Given the description of an element on the screen output the (x, y) to click on. 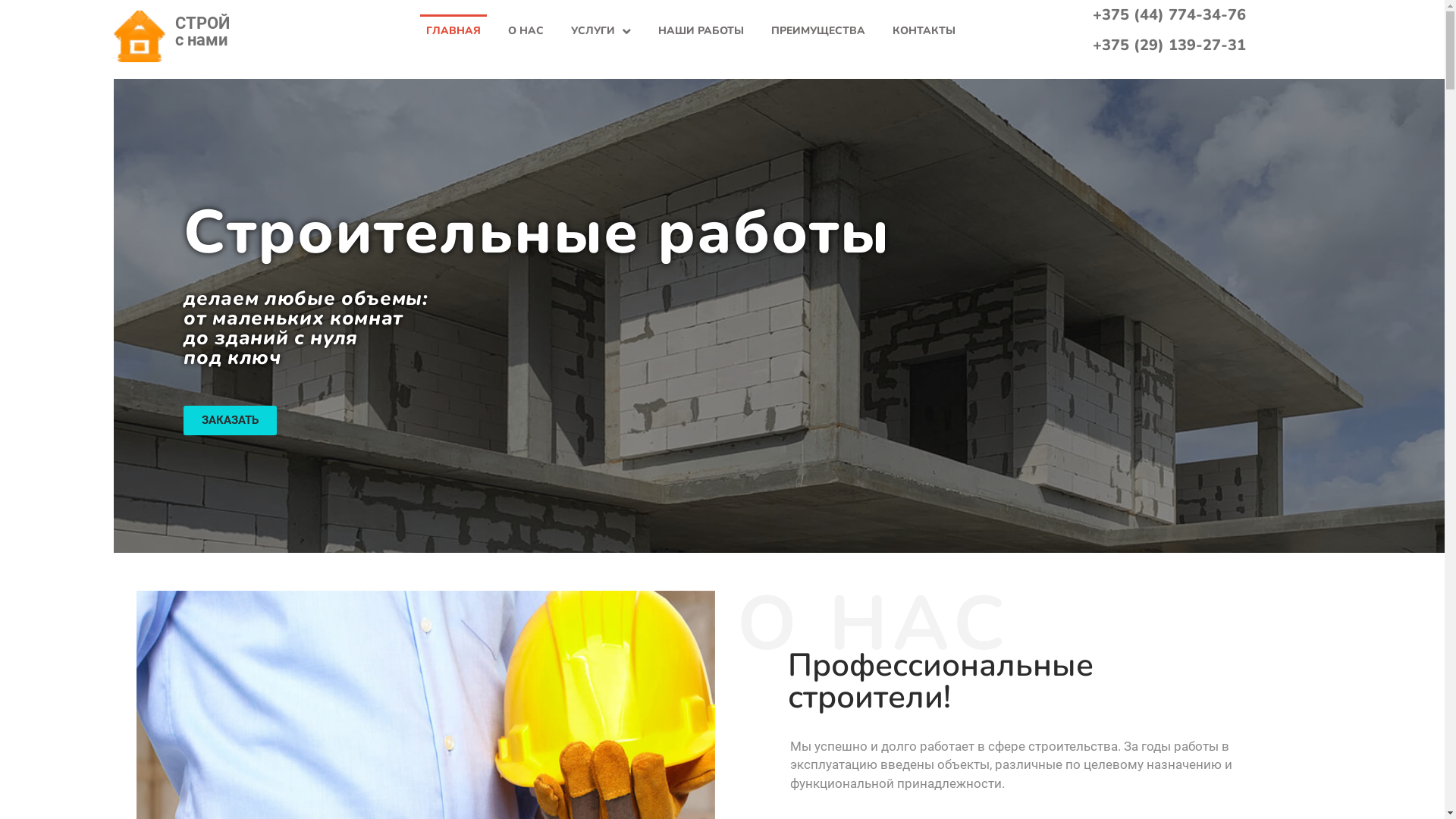
+375 (44) 774-34-76 Element type: text (1168, 14)
cropped-favicon.png Element type: hover (139, 36)
+375 (29) 139-27-31 Element type: text (1168, 44)
